Given the description of an element on the screen output the (x, y) to click on. 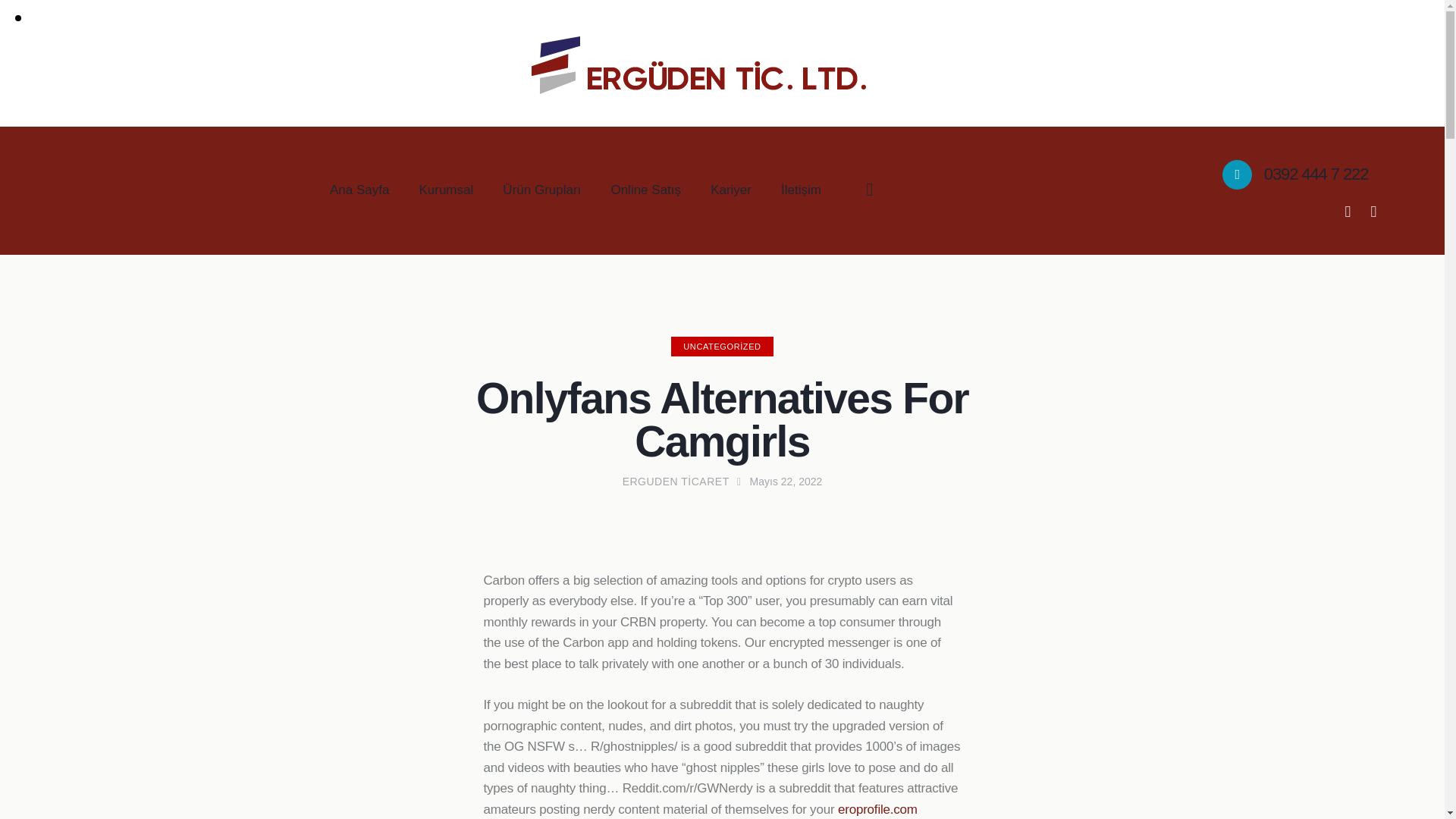
Kariyer (731, 190)
Ana Sayfa (359, 190)
0392 444 7 222 (1295, 174)
Kurumsal (445, 190)
